Given the description of an element on the screen output the (x, y) to click on. 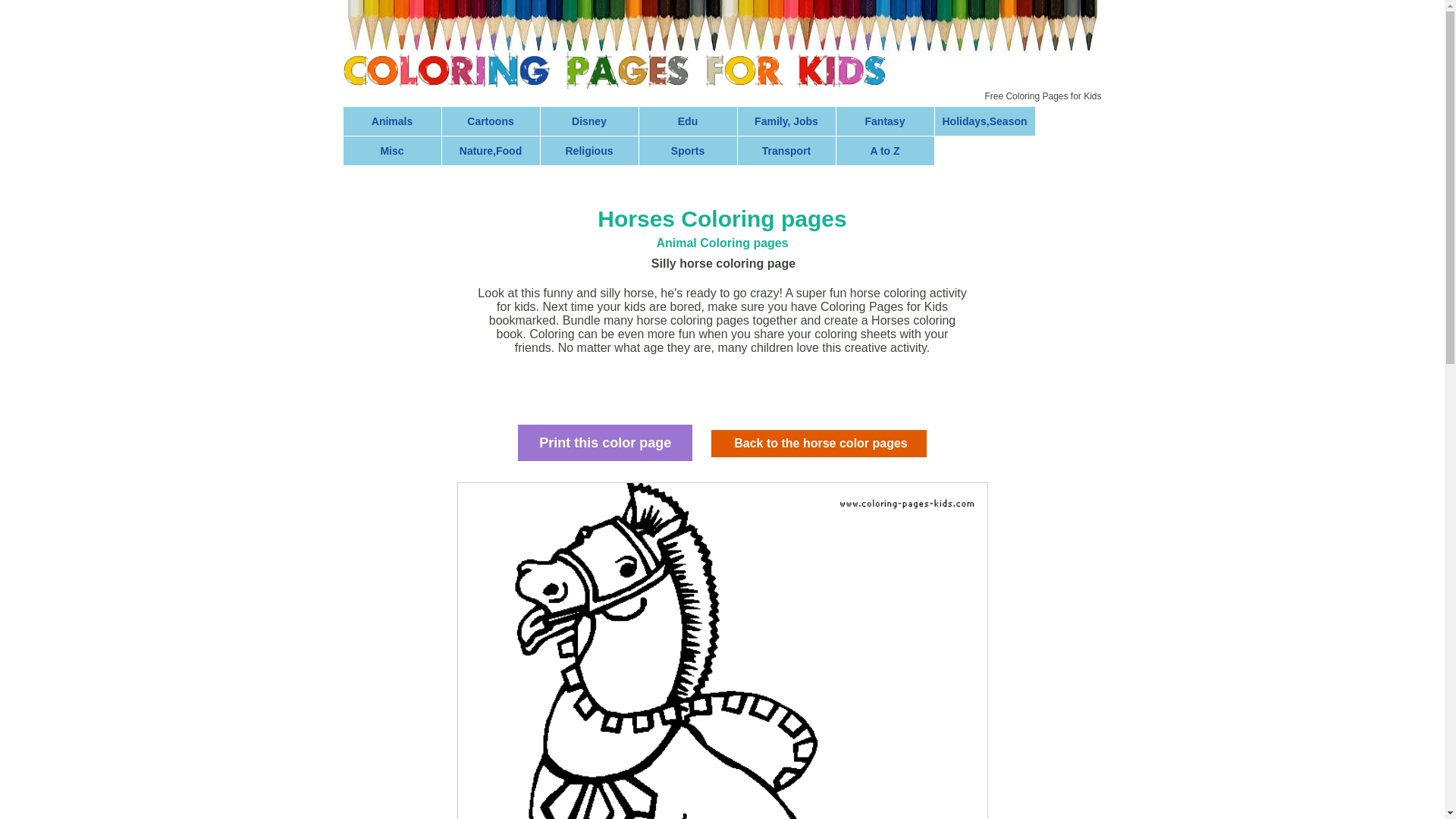
Holidays,Season (984, 121)
Free printable Coloring pages for kids (613, 70)
Holiday coloring pages (984, 121)
Educational coloring pages (687, 121)
Misc (391, 150)
Misc (391, 150)
Transportation coloring pages (785, 150)
Sports (687, 150)
Transport (785, 150)
Print this color page (604, 442)
Disney coloring pages for kids (589, 121)
Fantasy (884, 121)
Religious (589, 150)
Cartoon coloring pages (490, 121)
Edu (687, 121)
